Given the description of an element on the screen output the (x, y) to click on. 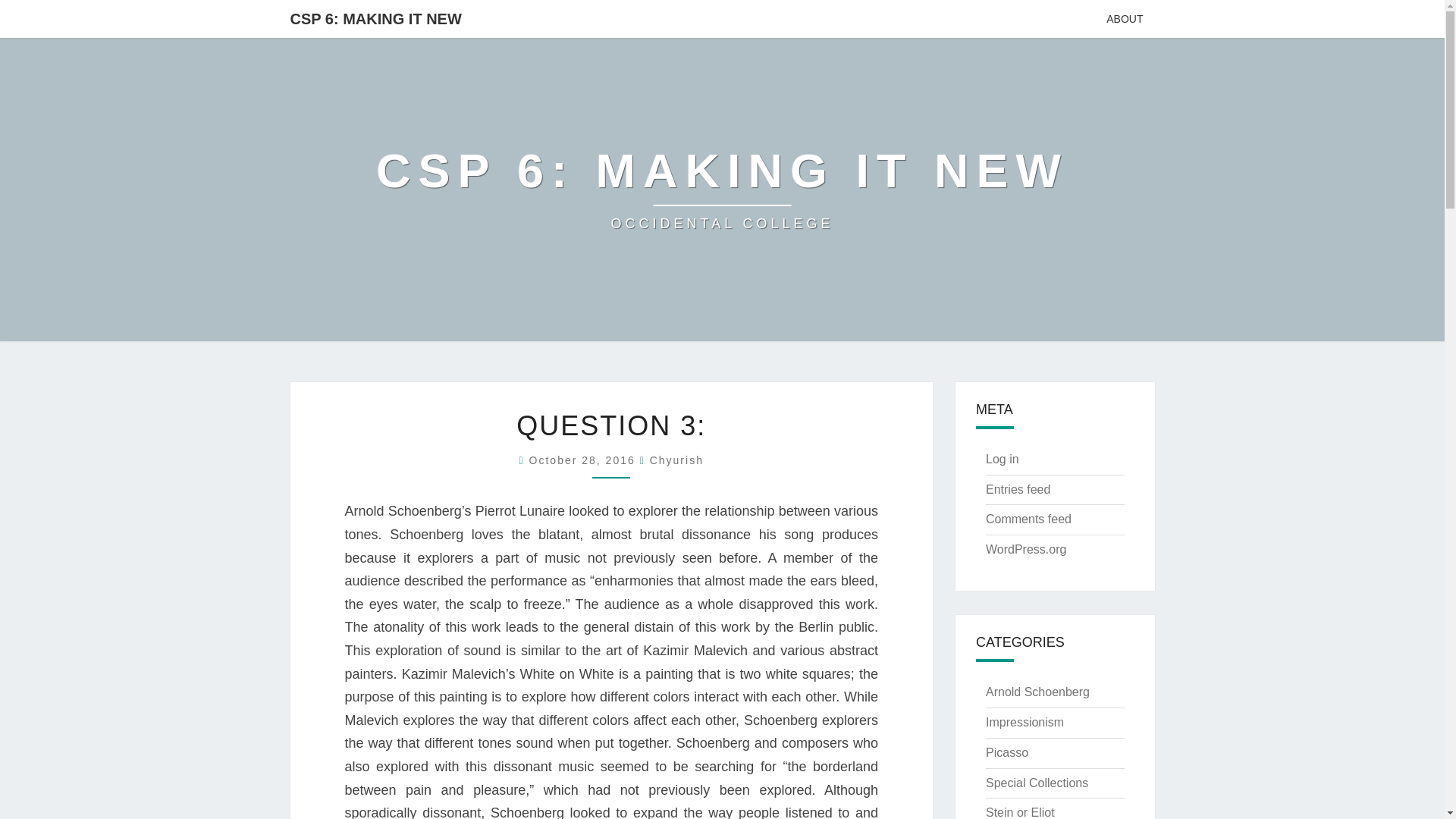
WordPress.org (1025, 549)
Picasso (1006, 752)
Chyurish (676, 460)
Stein or Eliot (1019, 812)
ABOUT (1124, 18)
About (721, 189)
Impressionism (1124, 18)
Arnold Schoenberg (1024, 721)
View all posts by chyurish (1037, 691)
Entries feed (676, 460)
CSP 6: Making It New (1017, 489)
CSP 6: MAKING IT NEW (721, 189)
October 28, 2016 (376, 18)
Special Collections (584, 460)
